Given the description of an element on the screen output the (x, y) to click on. 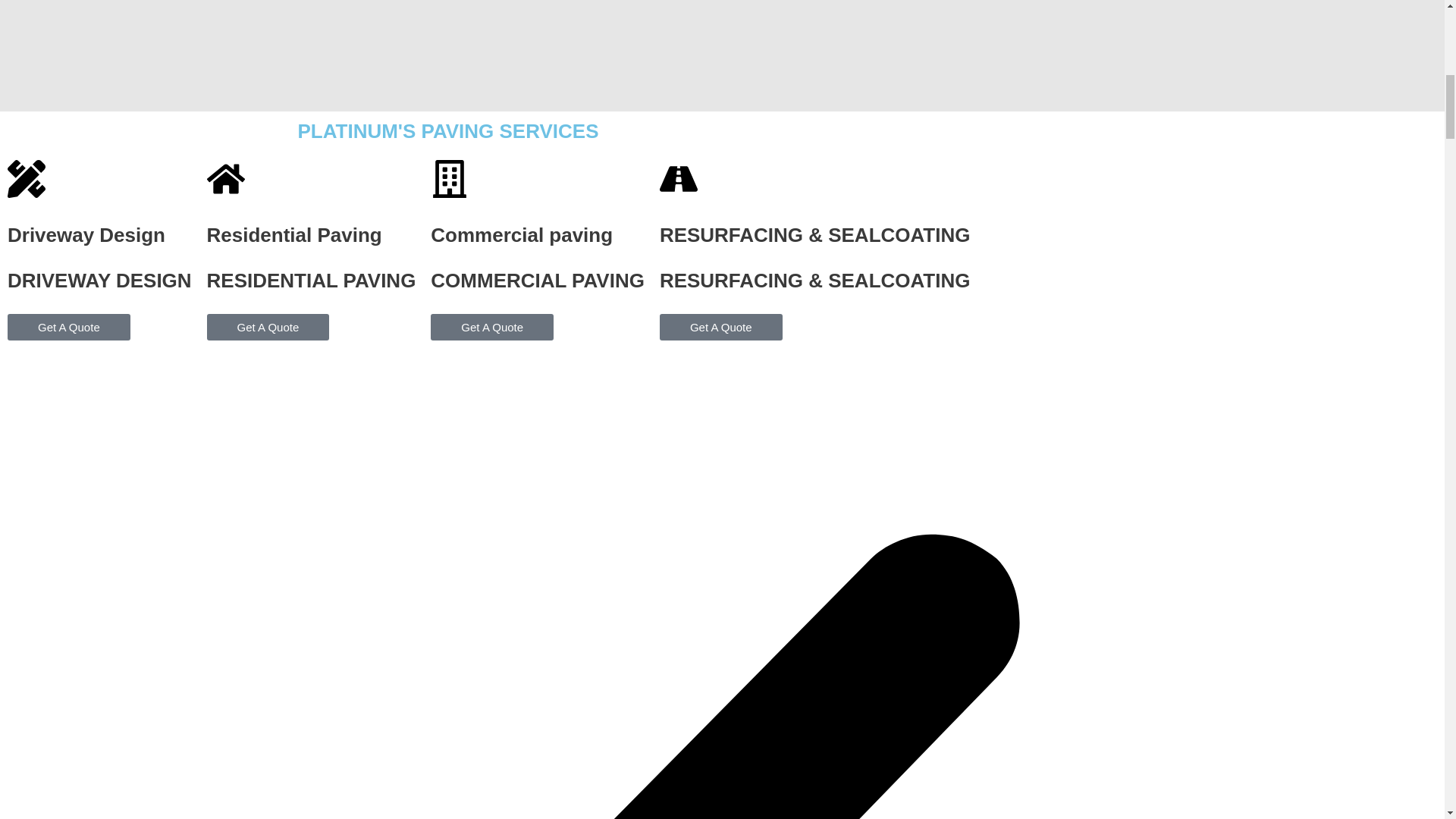
Get A Quote (69, 326)
Get A Quote (268, 326)
Get A Quote (721, 326)
Get A Quote (491, 326)
